Given the description of an element on the screen output the (x, y) to click on. 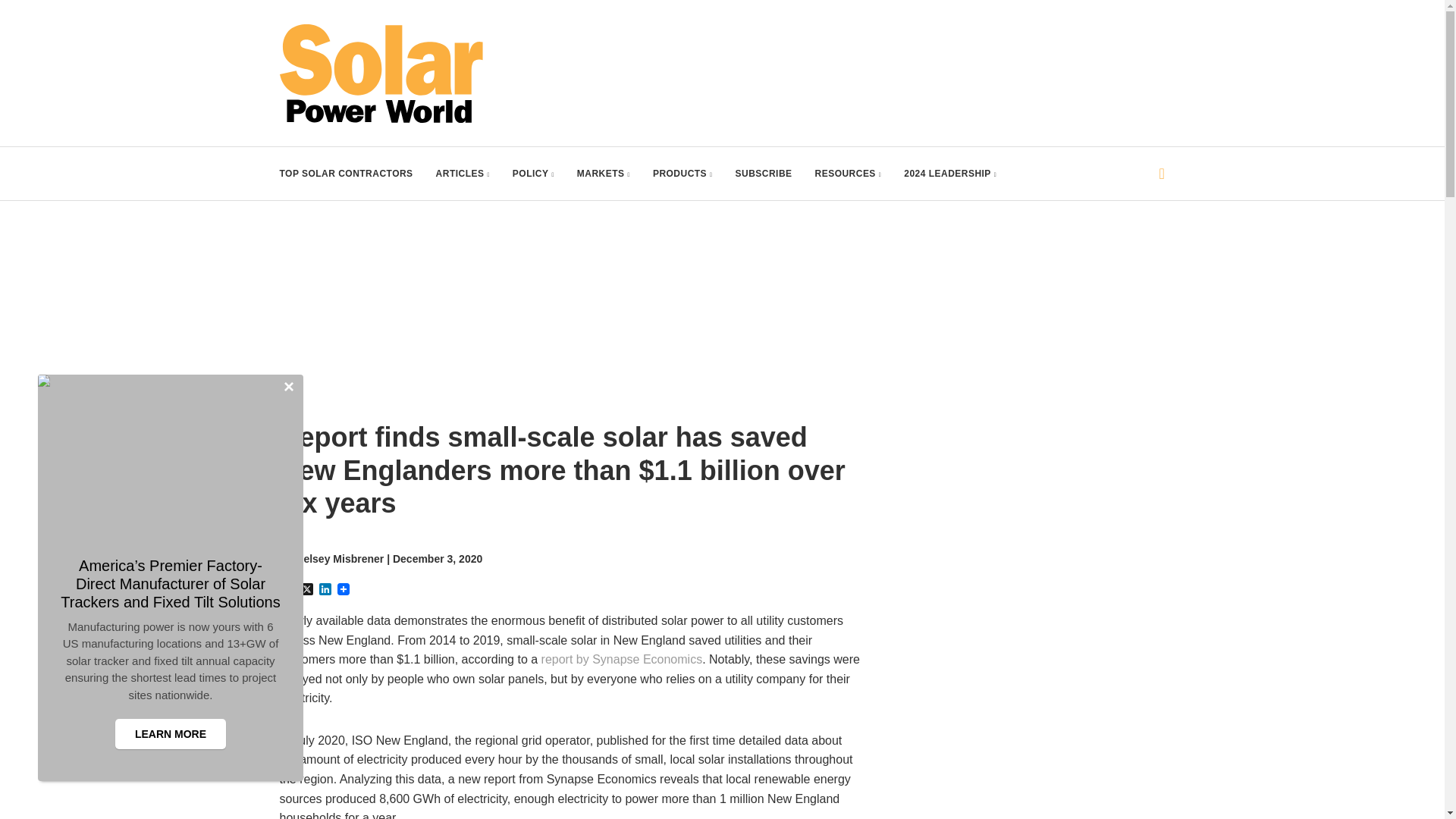
Facebook (288, 590)
TOP SOLAR CONTRACTORS (345, 173)
MARKETS (603, 173)
PRODUCTS (682, 173)
SUBSCRIBE (763, 173)
LinkedIn (324, 590)
X (306, 590)
Solar Power World (380, 73)
RESOURCES (848, 173)
3rd party ad content (888, 57)
ARTICLES (462, 173)
